Given the description of an element on the screen output the (x, y) to click on. 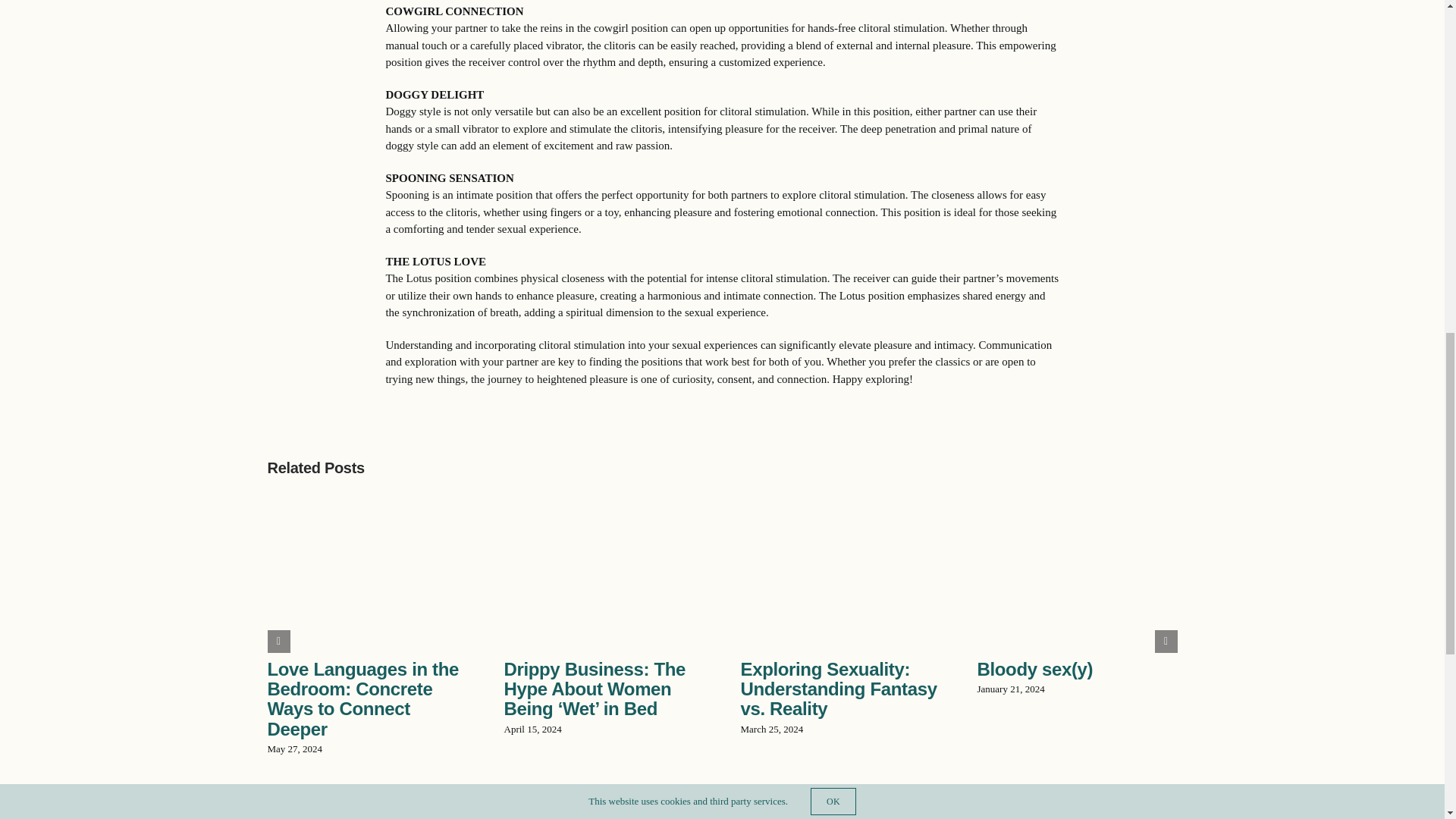
Exploring Sexuality: Understanding Fantasy vs. Reality (837, 689)
Exploring Sexuality: Understanding Fantasy vs. Reality (837, 689)
